Given the description of an element on the screen output the (x, y) to click on. 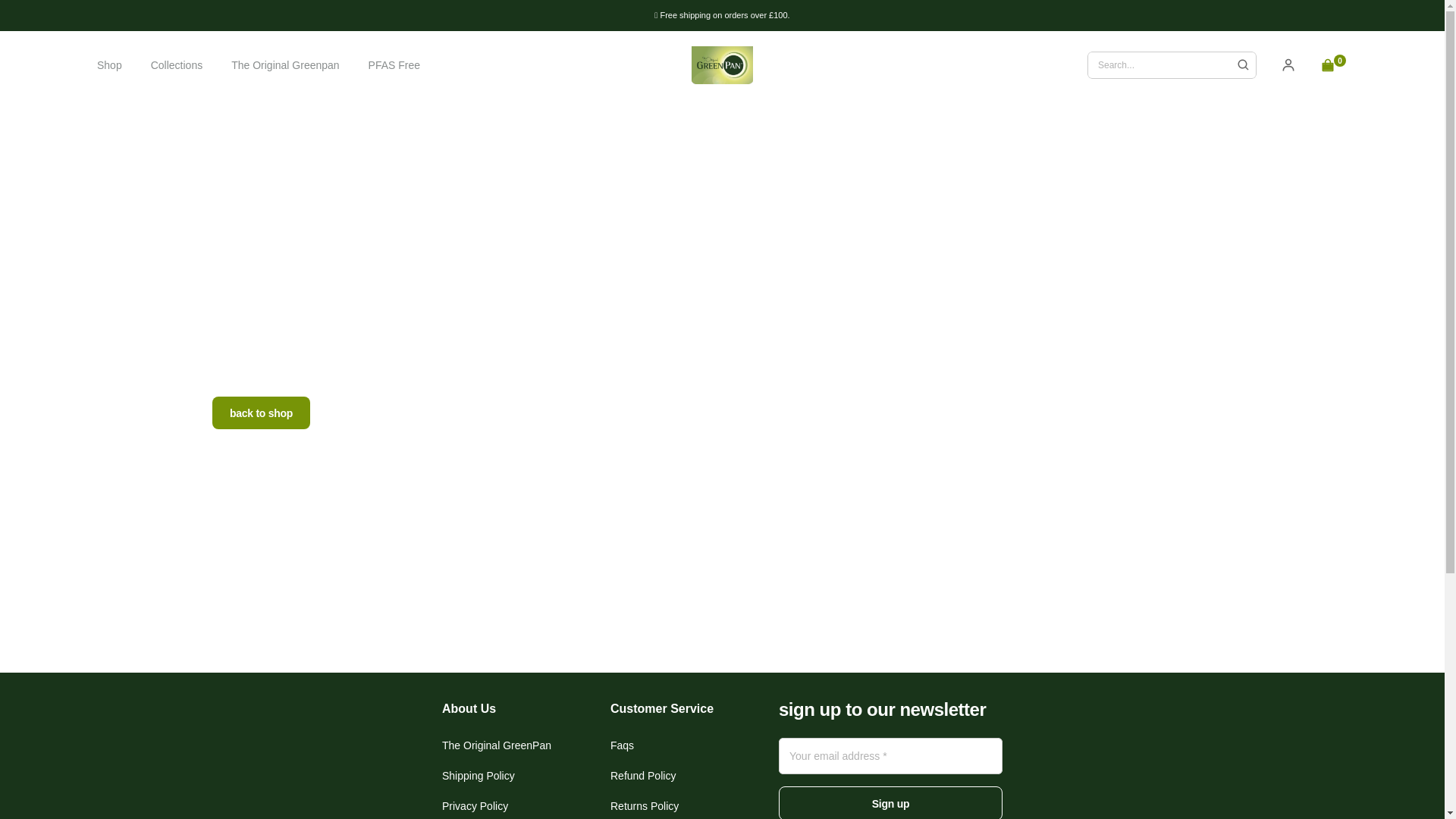
0 (1334, 64)
Search (1288, 64)
Greenpan UK (721, 64)
Search (1243, 64)
The Original Greenpan (285, 64)
